Given the description of an element on the screen output the (x, y) to click on. 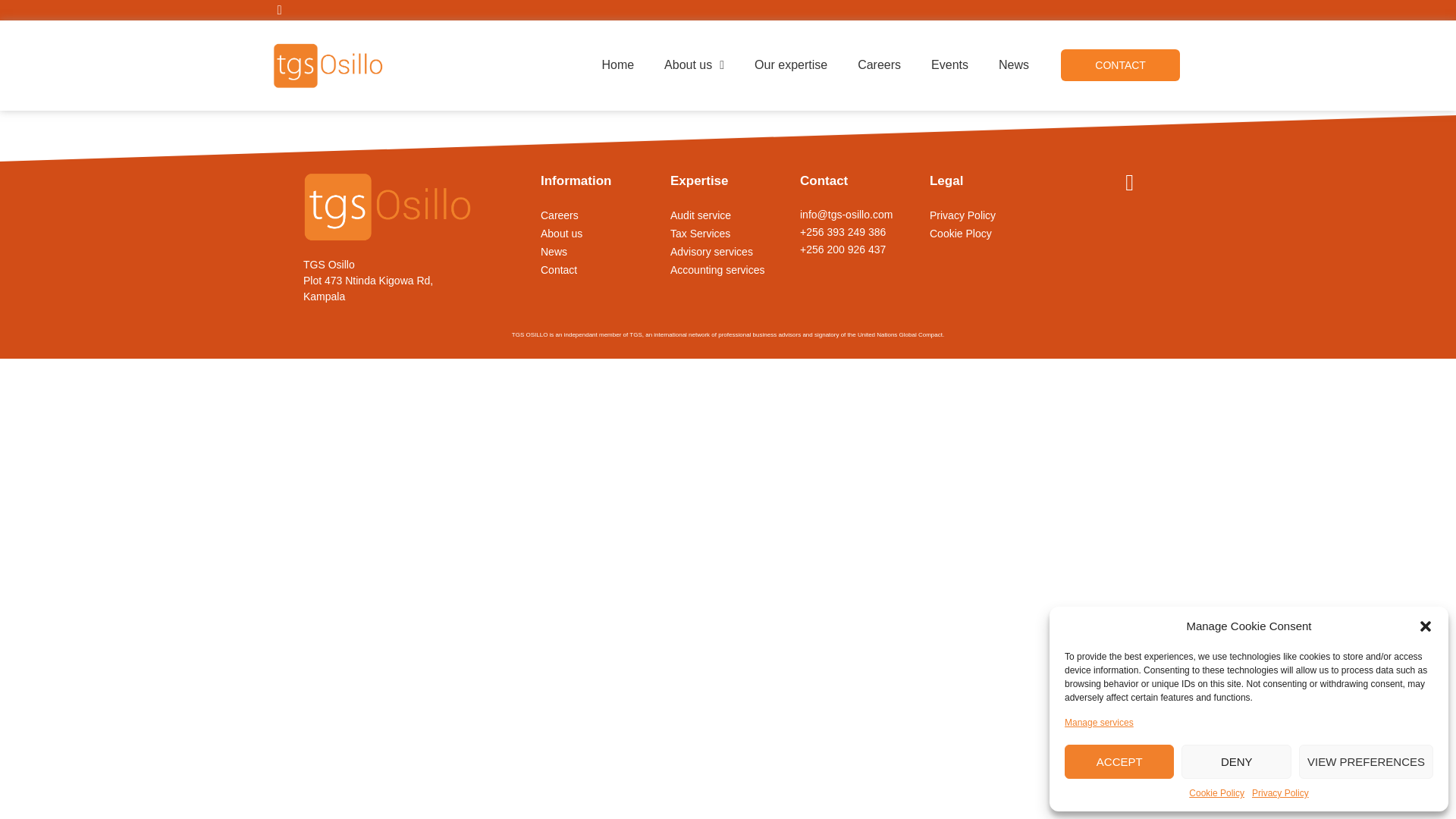
Events (949, 64)
Careers (879, 64)
About us (694, 64)
Our expertise (791, 64)
CONTACT (1120, 65)
News (1013, 64)
Home (617, 64)
